Given the description of an element on the screen output the (x, y) to click on. 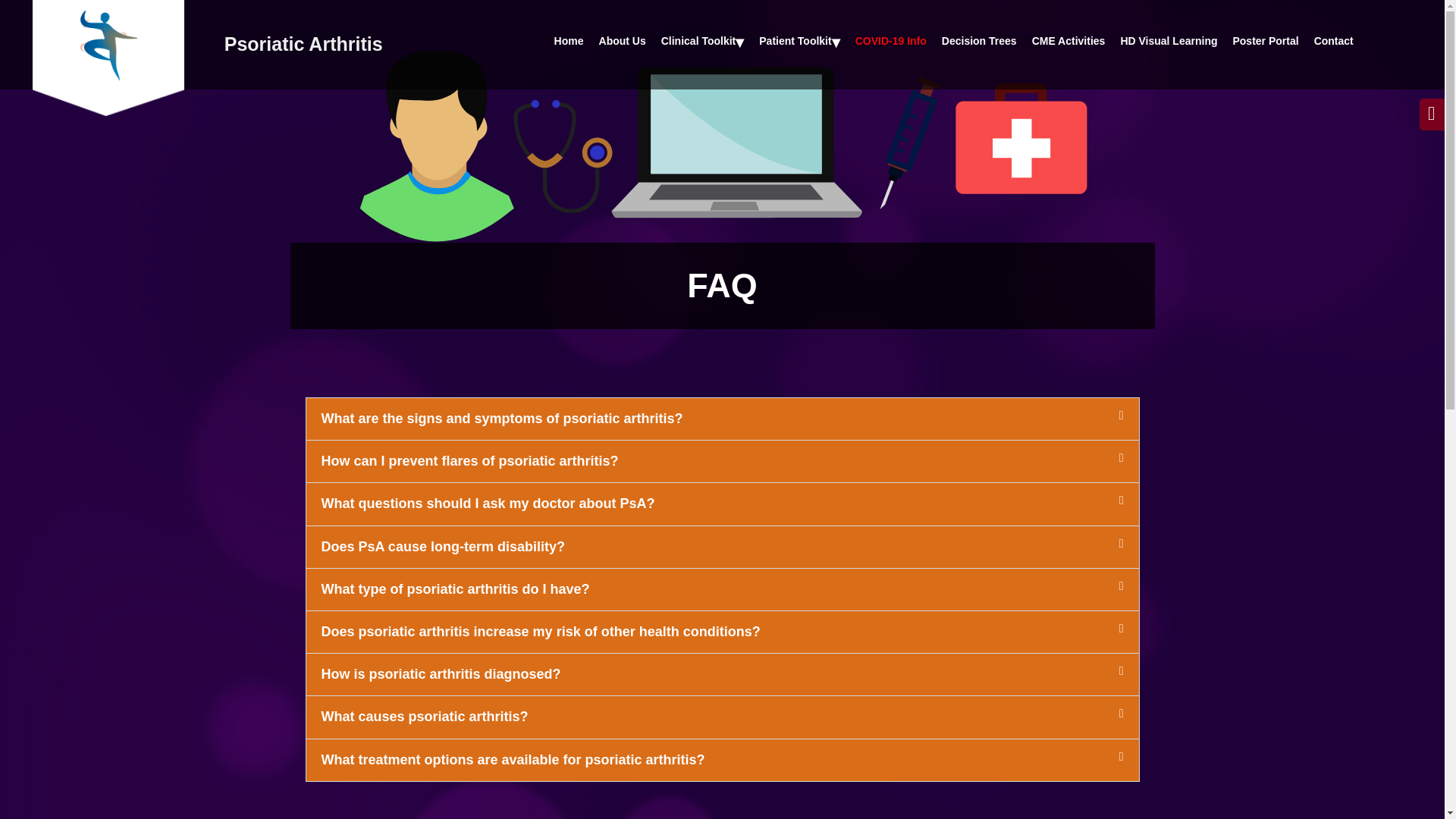
How can I prevent flares of psoriatic arthritis? (469, 460)
What type of psoriatic arthritis do I have? (455, 589)
Patient Toolkit (799, 40)
Contact (1333, 40)
About Us (622, 40)
HD Visual Learning (1168, 40)
Poster Portal (1265, 40)
Home (569, 40)
Psoriatic Arthritis (303, 43)
Clinical Toolkit (702, 40)
